Given the description of an element on the screen output the (x, y) to click on. 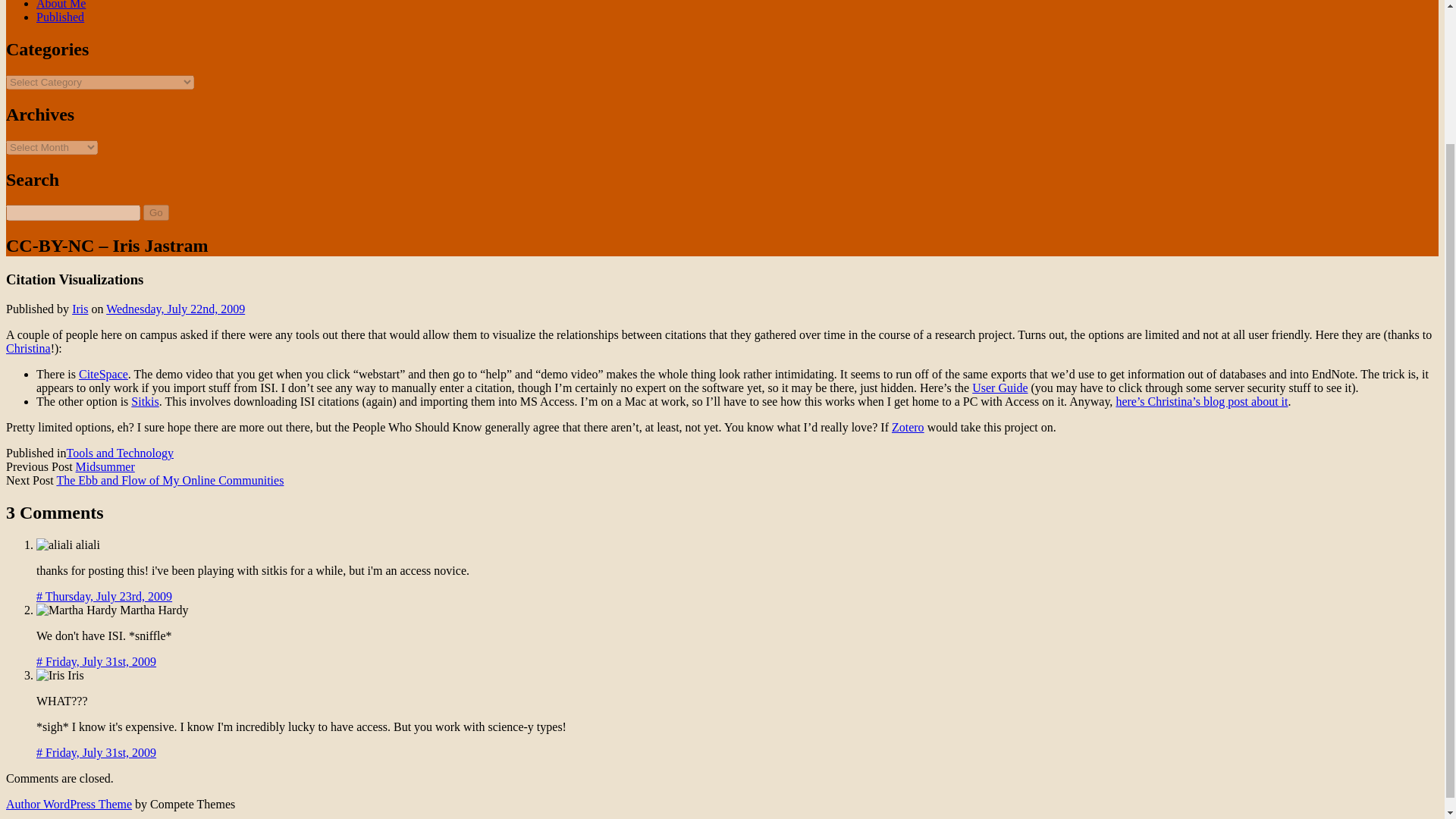
Go (155, 212)
The Ebb and Flow of My Online Communities (169, 480)
Midsummer (105, 466)
User Guide (999, 387)
Sitkis (144, 400)
Go (155, 212)
Zotero (907, 427)
Tools and Technology (119, 452)
CiteSpace (103, 373)
Iris (79, 308)
Wednesday, July 22nd, 2009 (175, 308)
Go (155, 212)
Author WordPress Theme (68, 803)
Published (60, 16)
About Me (60, 4)
